Given the description of an element on the screen output the (x, y) to click on. 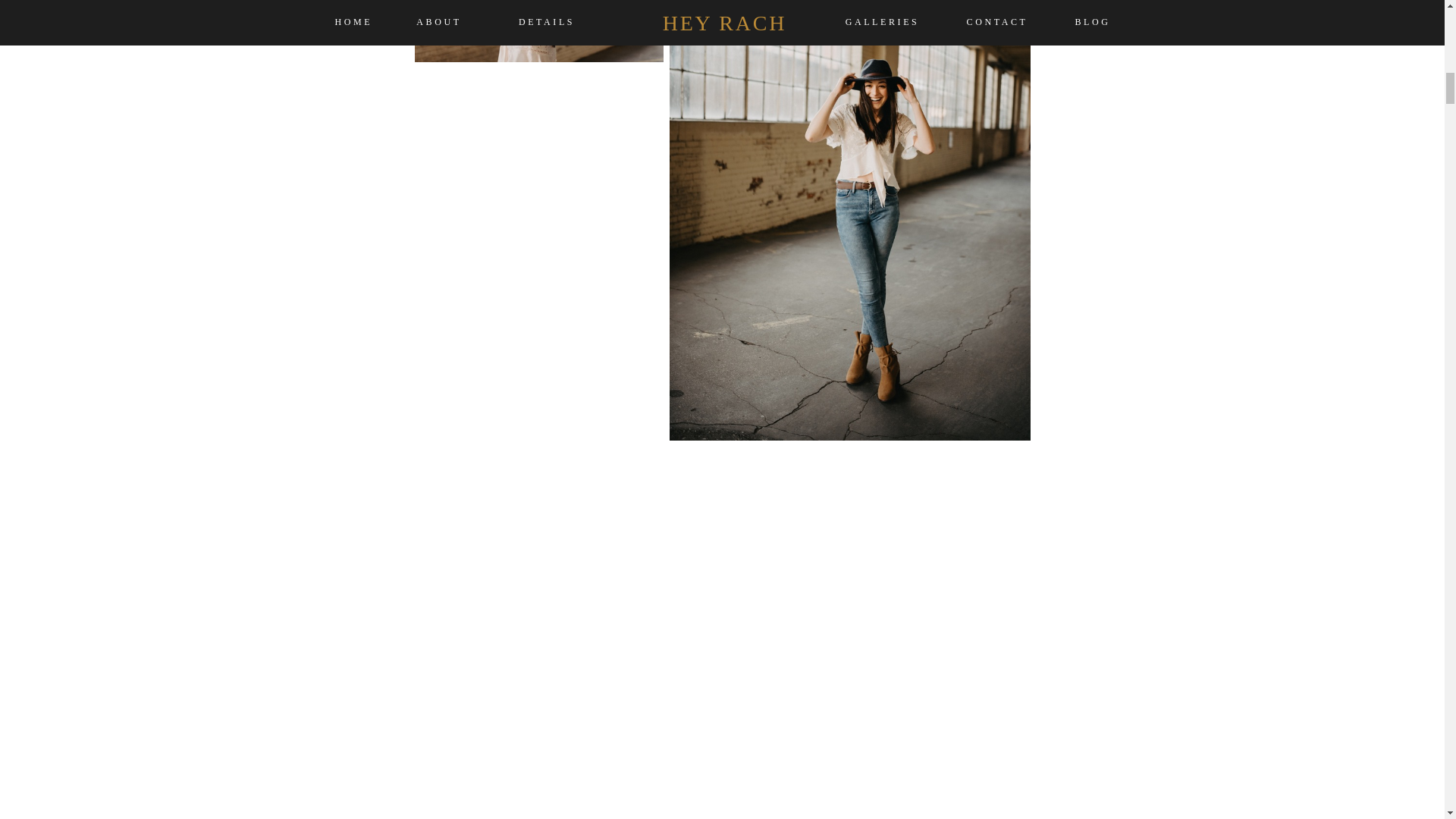
baylie-2899 (538, 254)
baylie-2-4 (538, 30)
